Given the description of an element on the screen output the (x, y) to click on. 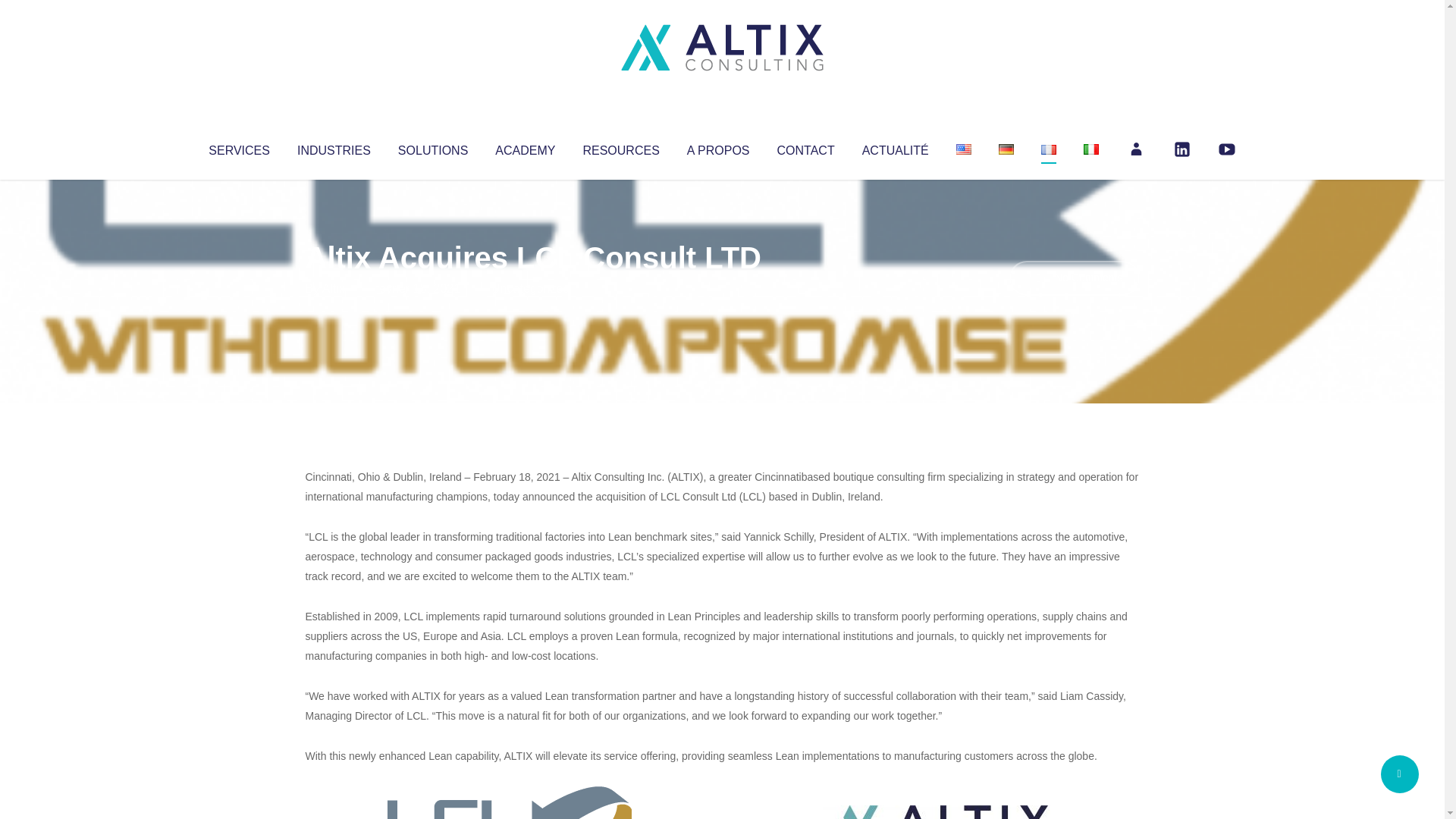
INDUSTRIES (334, 146)
SERVICES (238, 146)
ACADEMY (524, 146)
Altix (333, 287)
No Comments (1073, 278)
RESOURCES (620, 146)
Articles par Altix (333, 287)
Uncategorized (530, 287)
A PROPOS (718, 146)
SOLUTIONS (432, 146)
